Given the description of an element on the screen output the (x, y) to click on. 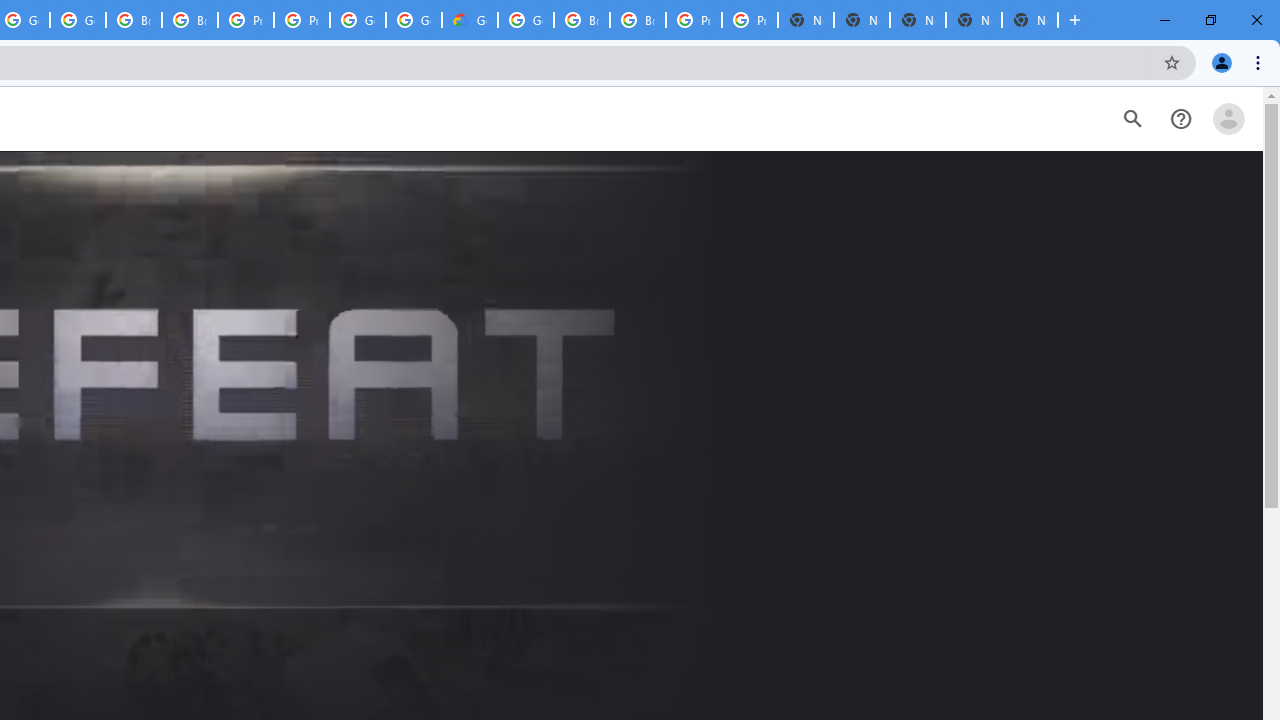
Google Cloud Estimate Summary (469, 20)
Google Cloud Platform (413, 20)
Browse Chrome as a guest - Computer - Google Chrome Help (134, 20)
Open account menu (1228, 119)
Google Cloud Platform (525, 20)
Browse Chrome as a guest - Computer - Google Chrome Help (582, 20)
